Given the description of an element on the screen output the (x, y) to click on. 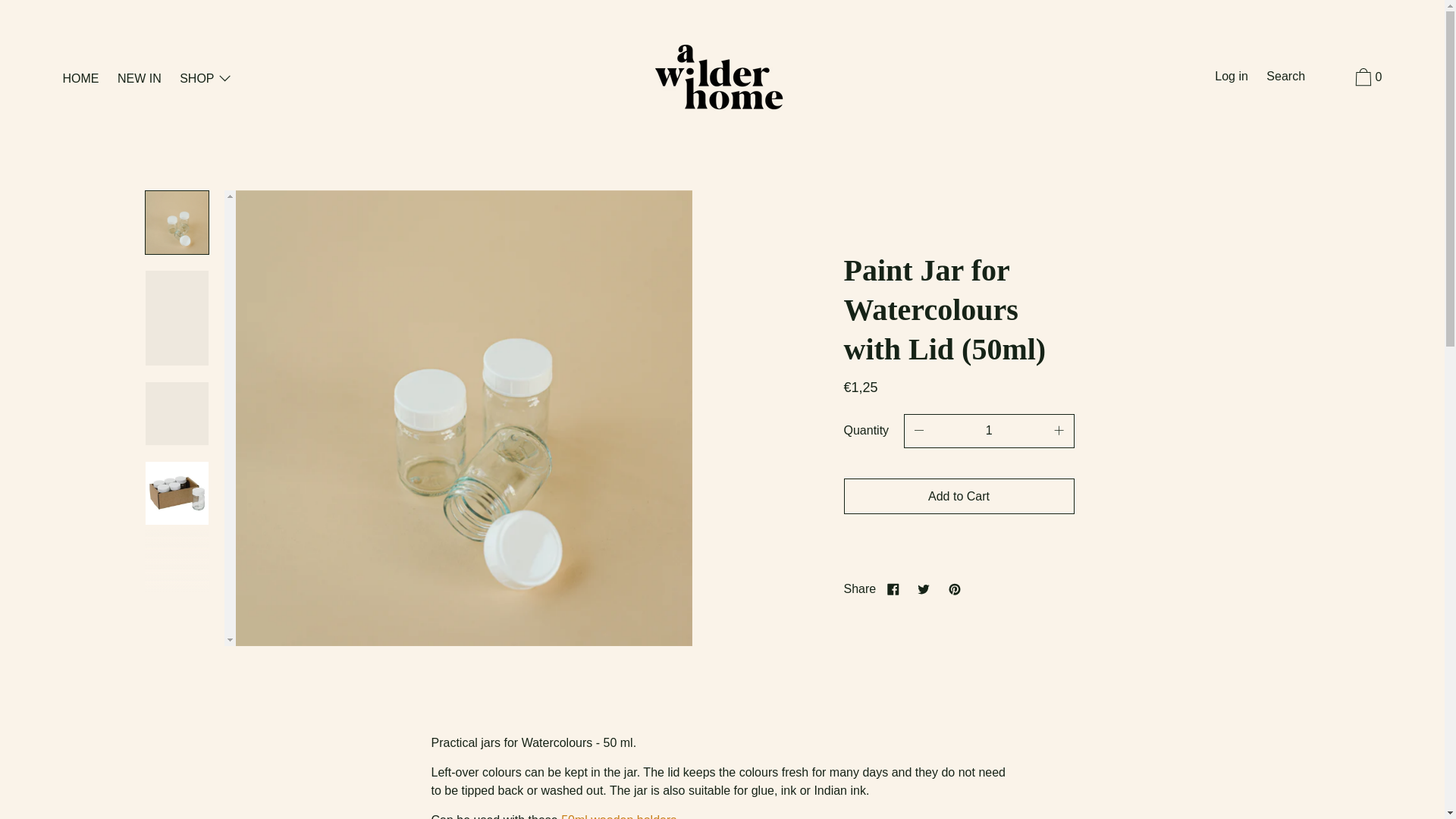
NEW IN (139, 78)
Share on Facebook (893, 588)
0 (1366, 79)
HOME (80, 78)
SHOP (205, 78)
Log in (1231, 77)
Tweet on Twitter (923, 588)
1 (988, 430)
Pin on Pinterest (954, 588)
Search (1286, 77)
